Given the description of an element on the screen output the (x, y) to click on. 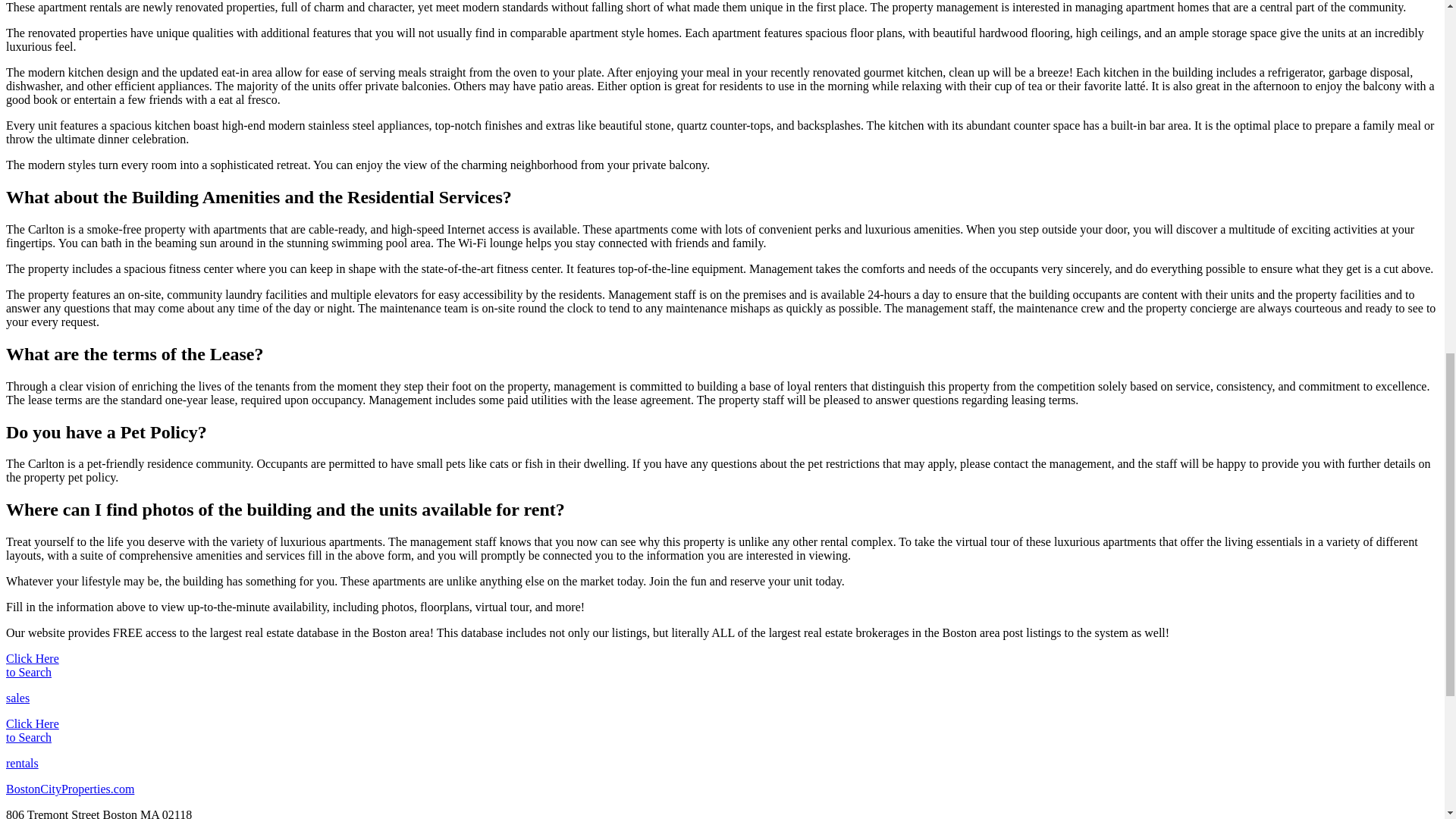
BostonCityProperties.com (69, 788)
